Given the description of an element on the screen output the (x, y) to click on. 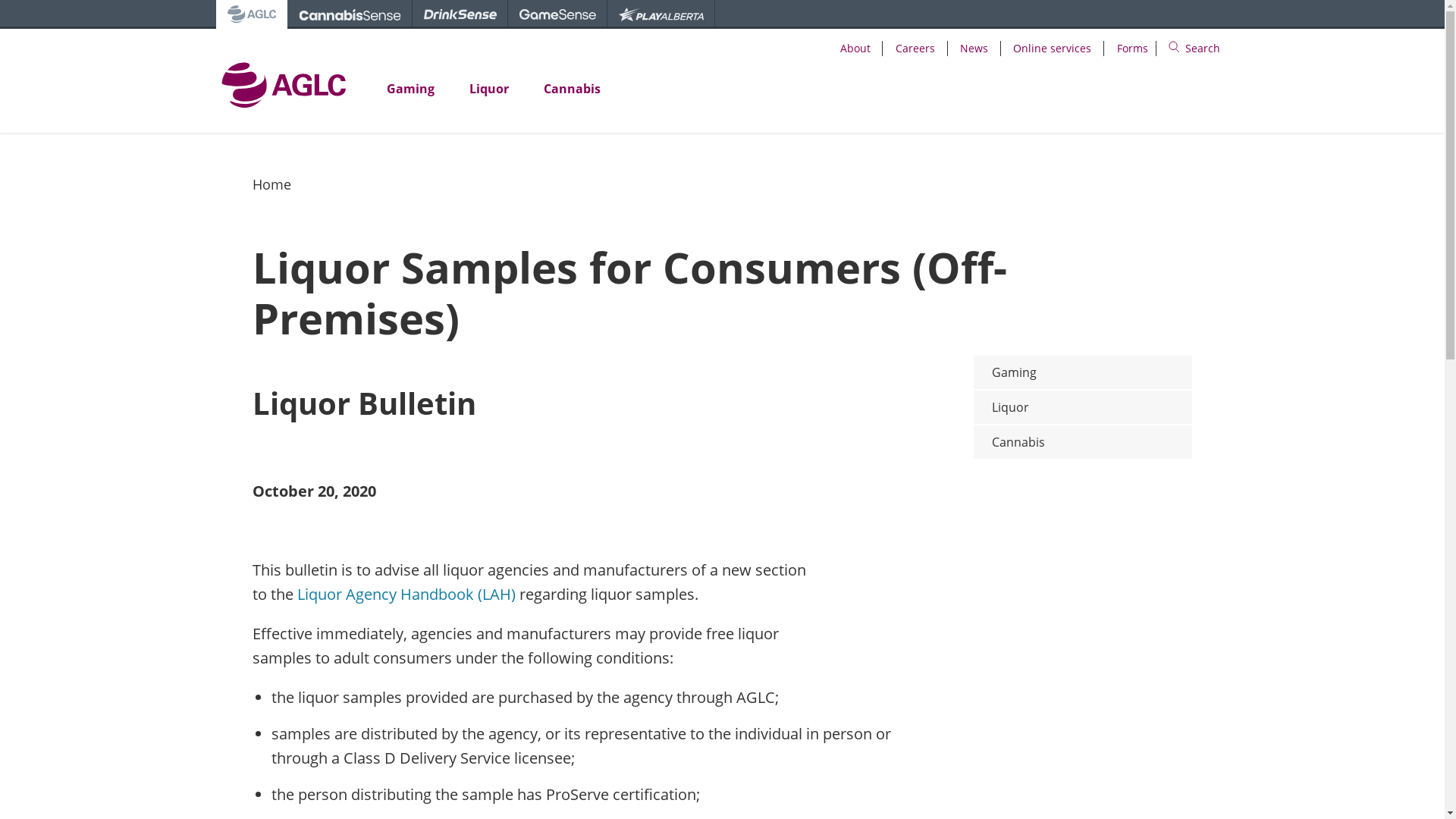
Play Alberta
PlayAlberta logo Element type: text (660, 14)
News Element type: text (973, 48)
Gaming Element type: text (409, 89)
Cannabis Element type: text (571, 89)
Drink Sense
DrinkSense logo Element type: text (460, 14)
Liquor Element type: text (488, 89)
Cannabis Sense Element type: text (348, 14)
Cannabis Element type: text (1082, 441)
Online services Element type: text (1051, 48)
AGLC
AGLC logo Element type: text (250, 14)
Liquor Element type: text (1082, 406)
Home Element type: text (270, 184)
About Element type: text (854, 48)
Game Sense
GameSense logo Element type: text (557, 14)
Liquor Agency Handbook (LAH) Element type: text (406, 593)
Gaming Element type: text (1082, 372)
Careers Element type: text (915, 48)
Forms Element type: text (1132, 48)
